Given the description of an element on the screen output the (x, y) to click on. 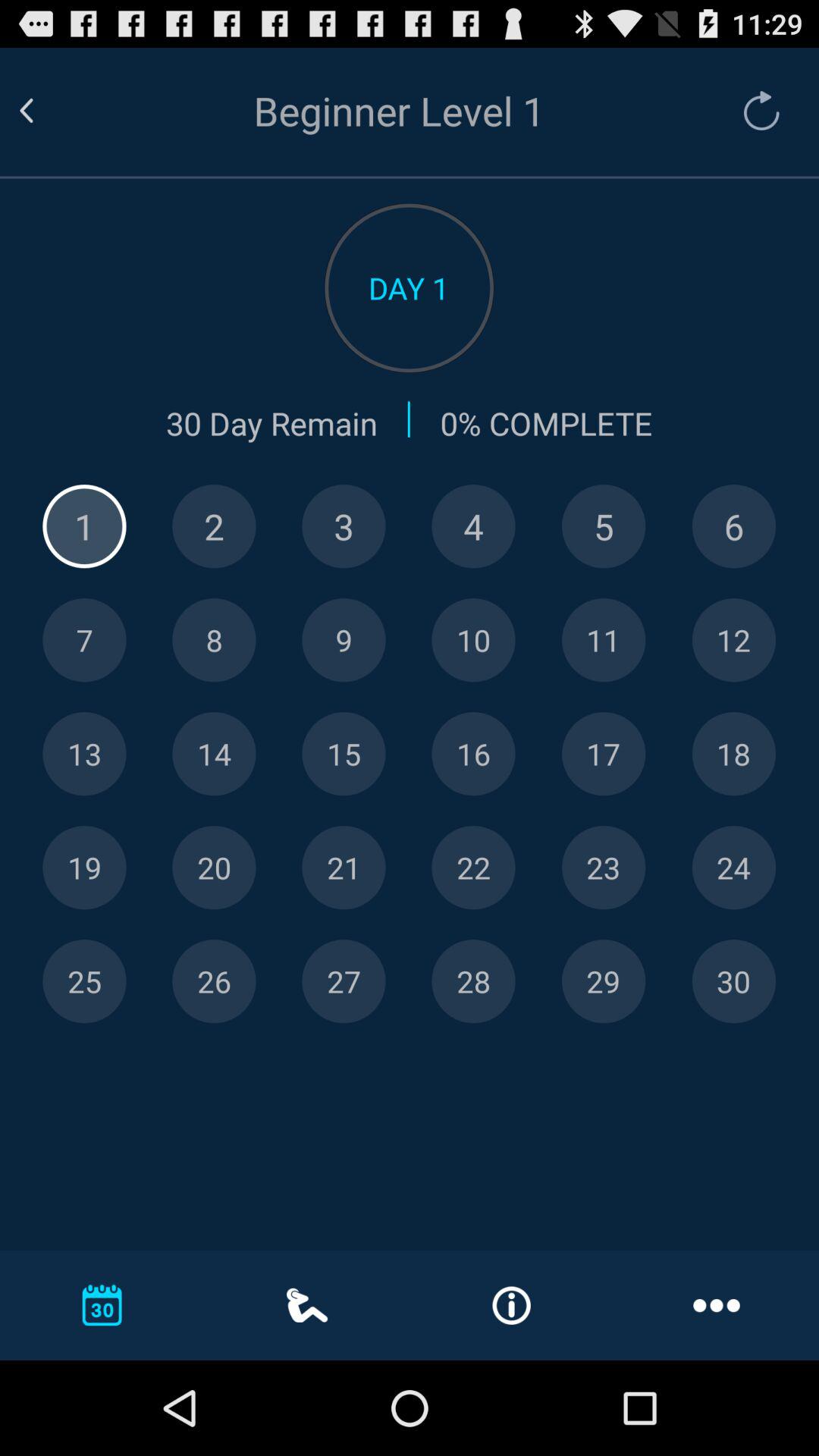
select day 10 (473, 639)
